Given the description of an element on the screen output the (x, y) to click on. 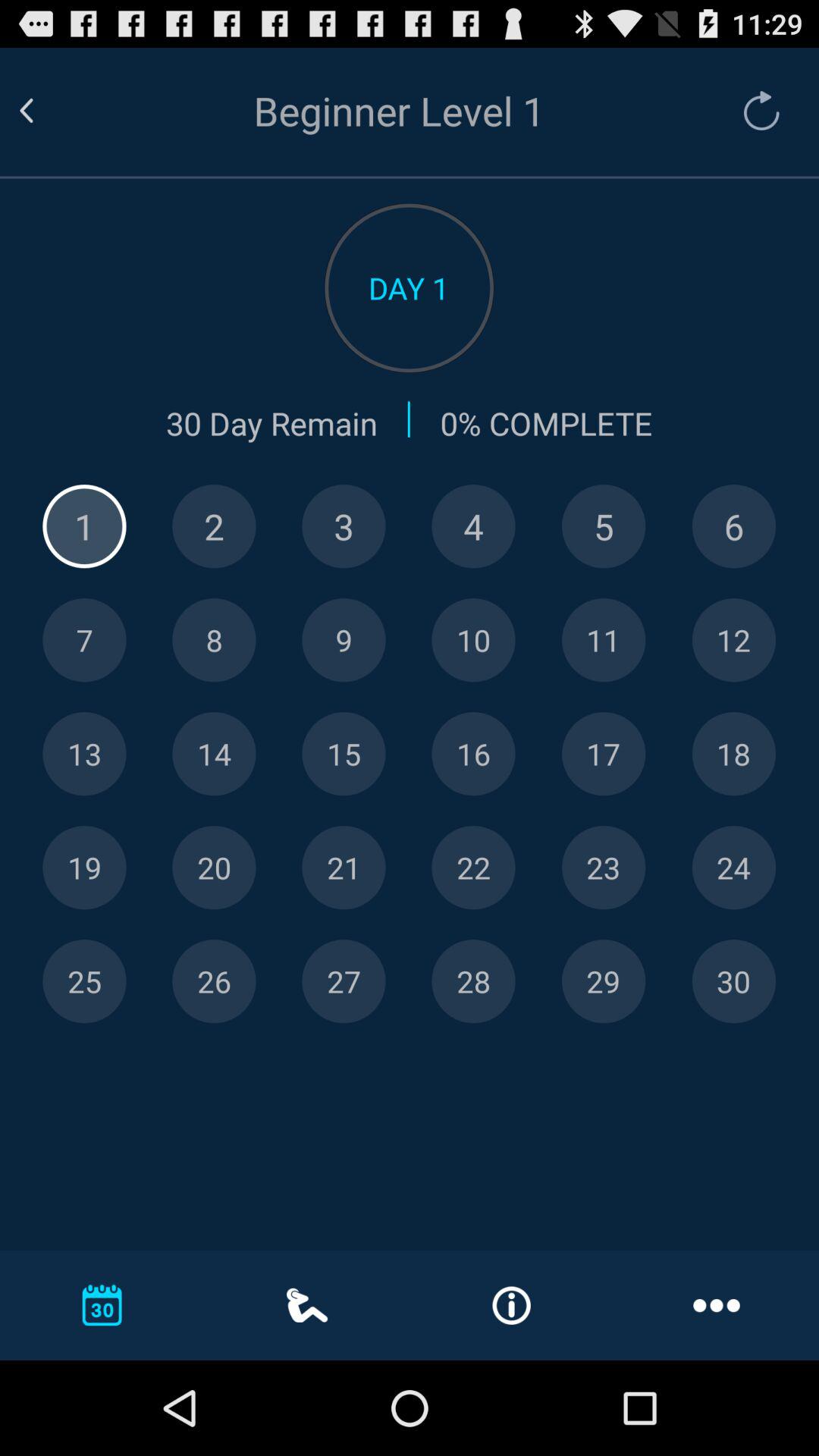
select day 10 (473, 639)
